Given the description of an element on the screen output the (x, y) to click on. 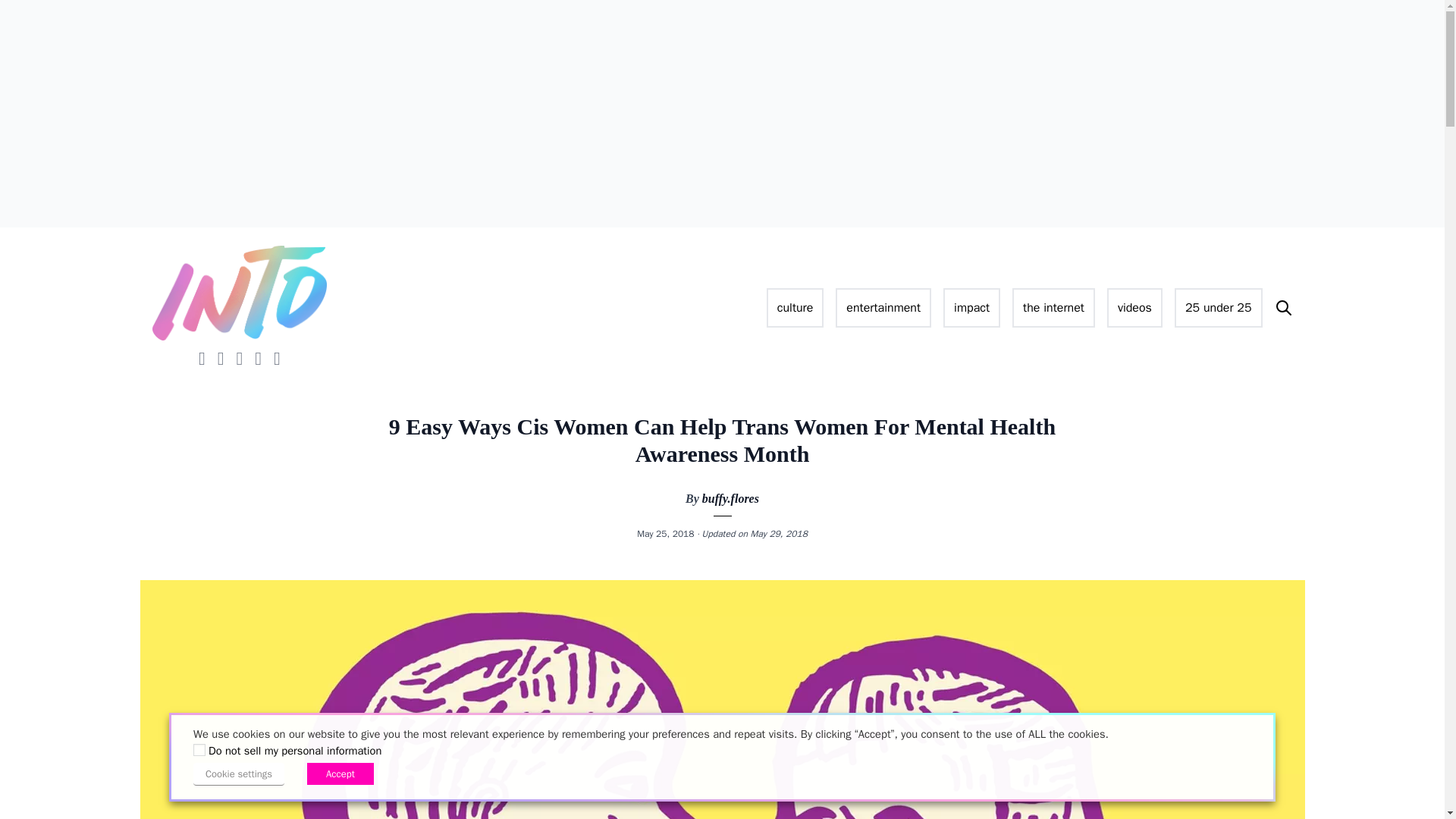
the internet (1052, 307)
videos (1133, 307)
25 under 25 (1218, 307)
impact (971, 307)
entertainment (883, 307)
culture (795, 307)
buffy.flores (729, 498)
on (199, 749)
